Given the description of an element on the screen output the (x, y) to click on. 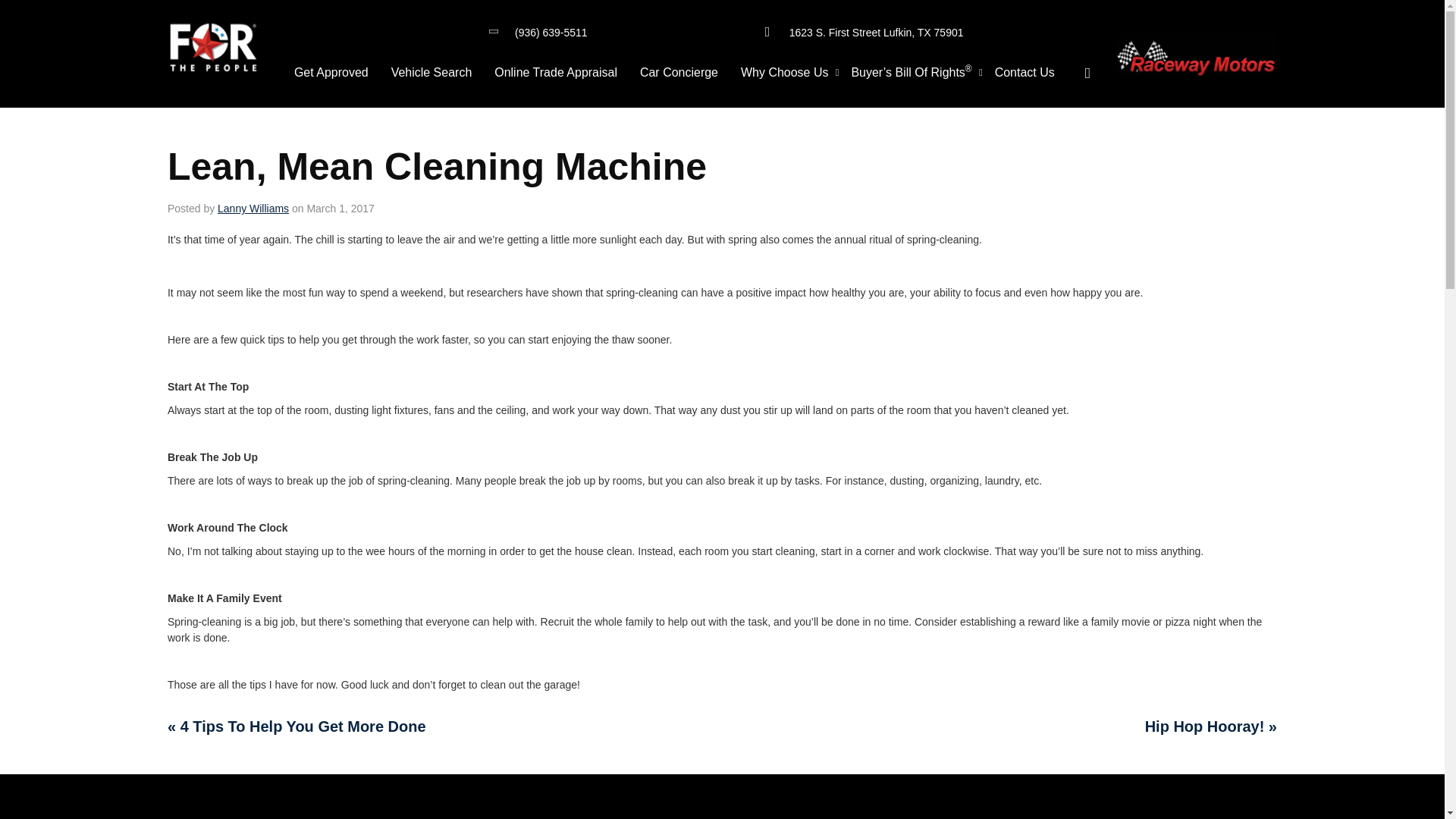
Posts by Lanny Williams (252, 208)
Raceway Motors (213, 48)
Online Trade Appraisal (555, 72)
Contact Us (1024, 72)
Get Approved (331, 72)
Why Choose Us (784, 72)
Vehicle Search (431, 72)
4 Tips To Help You Get More Done (296, 726)
1623 S. First Street Lufkin, TX 75901 (876, 32)
Hip Hop Hooray! (1210, 726)
